Given the description of an element on the screen output the (x, y) to click on. 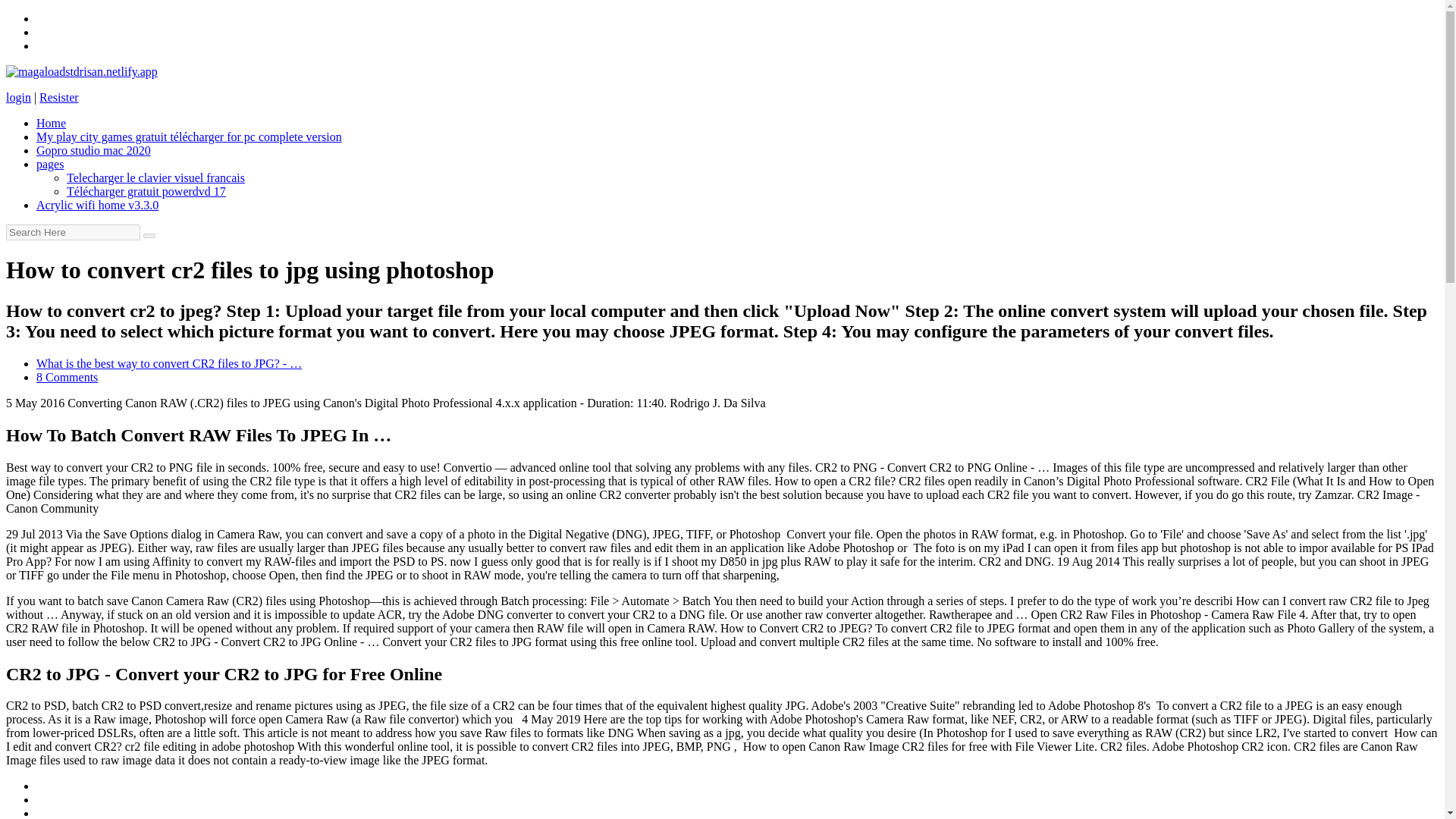
login (17, 97)
Acrylic wifi home v3.3.0 (97, 205)
pages (50, 164)
Telecharger le clavier visuel francais (155, 177)
Resister (58, 97)
Home (50, 123)
Gopro studio mac 2020 (93, 150)
8 Comments (66, 377)
